Given the description of an element on the screen output the (x, y) to click on. 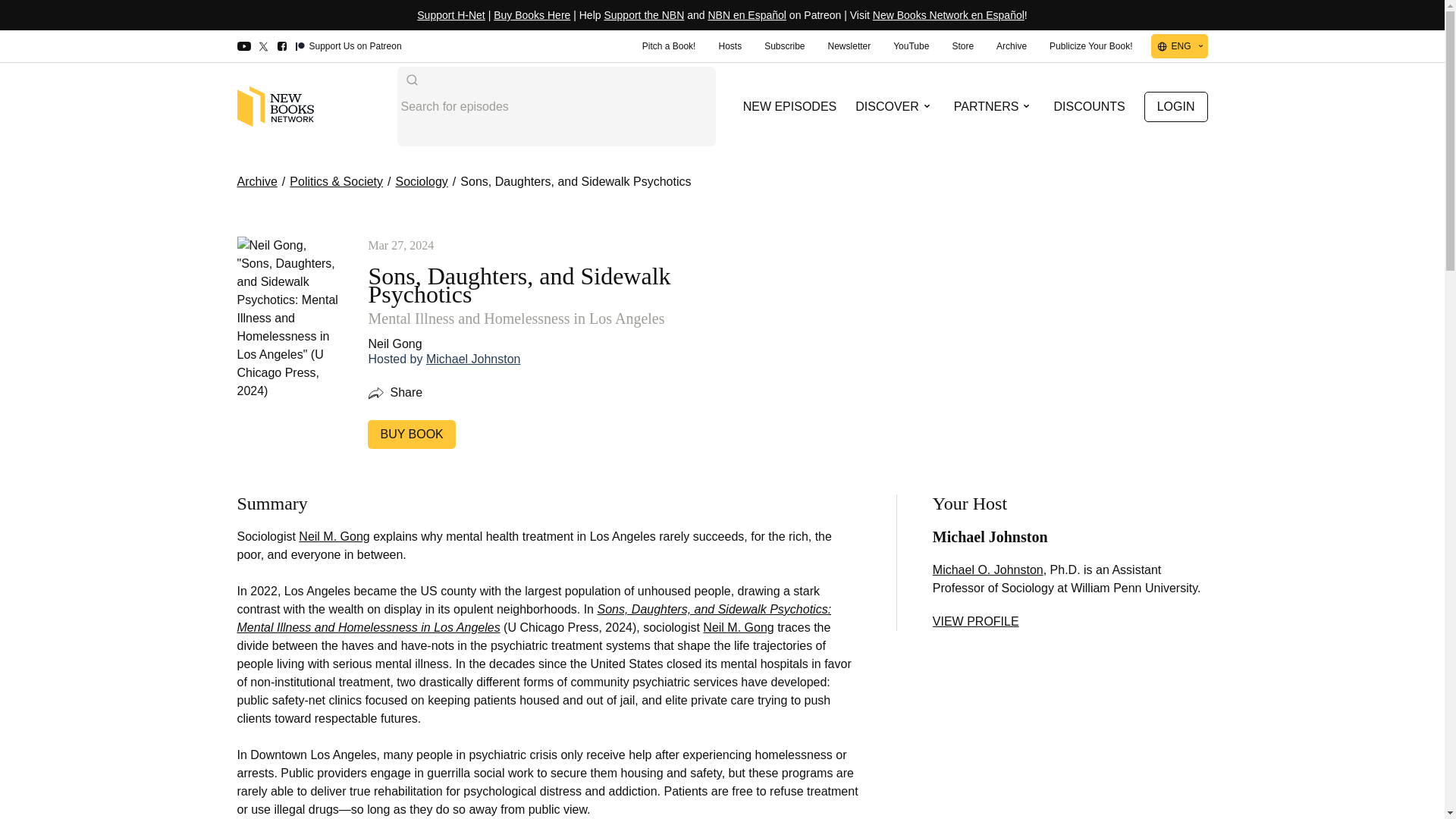
Support H-Net (450, 15)
Archive (1011, 46)
Newsletter (849, 46)
Pitch a Book! (669, 46)
Buy Books Here (531, 15)
Store (961, 46)
Hosts (729, 46)
YouTube (911, 46)
Support the NBN (644, 15)
Submit (411, 79)
